Given the description of an element on the screen output the (x, y) to click on. 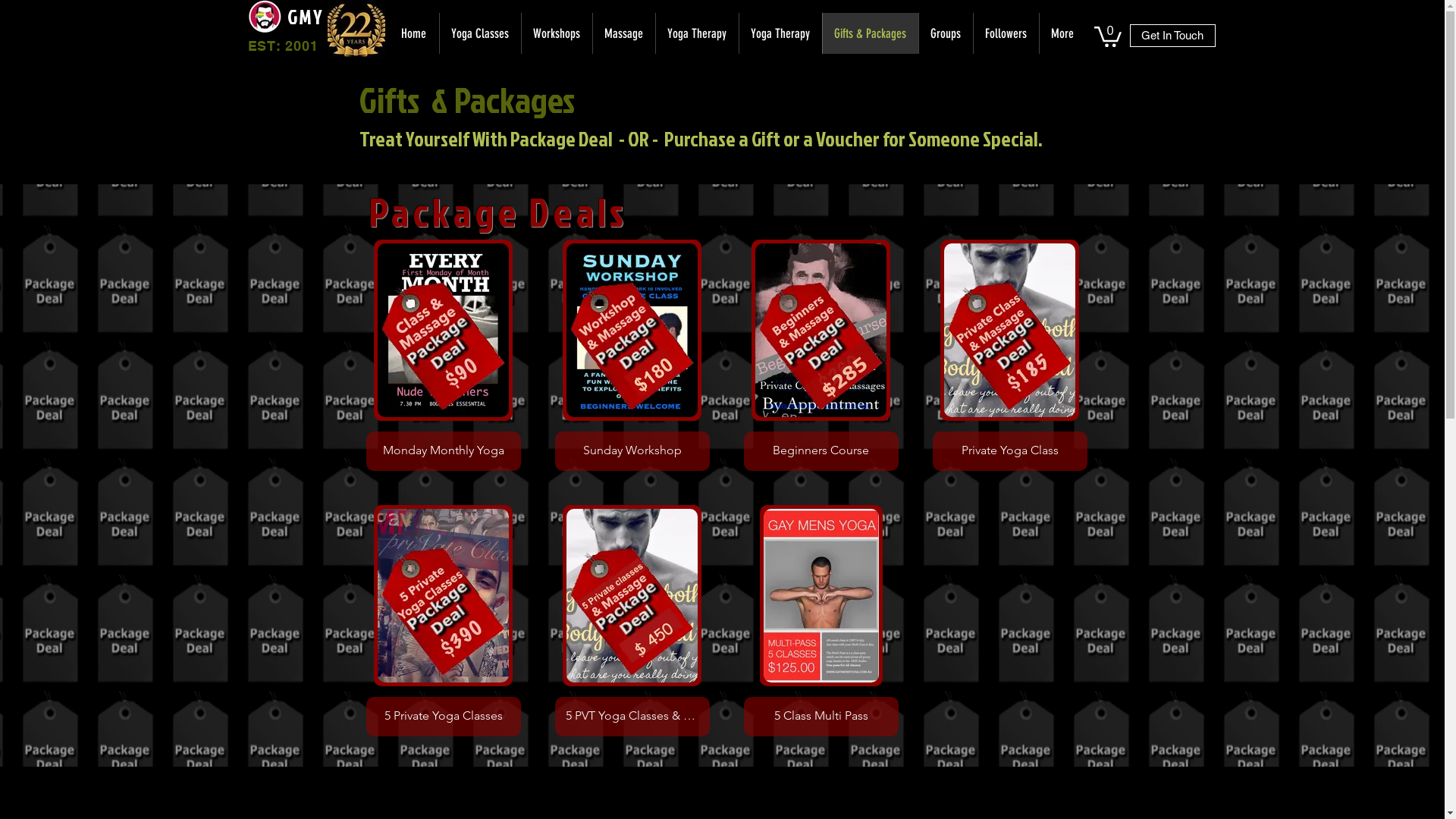
Yoga Therapy Element type: text (780, 32)
Private Yoga Class
Private Yoga Class & Massage Element type: text (1009, 354)
Gifts & Packages Element type: text (870, 32)
Massage Element type: text (622, 32)
Yoga Therapy Element type: text (696, 32)
www.gaymensyoga.com.au Element type: hover (356, 28)
Beginners Course
Private Beginners Course Package Element type: text (820, 354)
Workshops Element type: text (555, 32)
0 Element type: text (1106, 35)
5 Private Yoga Classes Element type: text (442, 620)
Get In Touch Element type: text (1172, 35)
www.gaymensyoga.com.au Element type: hover (263, 16)
GMY Element type: text (304, 16)
5 Class Multi Pass Element type: text (820, 620)
5 PVT Yoga Classes & Massage
private yoga & massage Element type: text (632, 620)
Yoga Classes Element type: text (479, 32)
Groups Element type: text (944, 32)
Home Element type: text (414, 32)
Sunday Workshop
gay Sunday Element type: text (632, 354)
Monday Monthly Yoga
5 Private Classes 
Package deal Element type: text (442, 354)
Followers Element type: text (1005, 32)
